Given the description of an element on the screen output the (x, y) to click on. 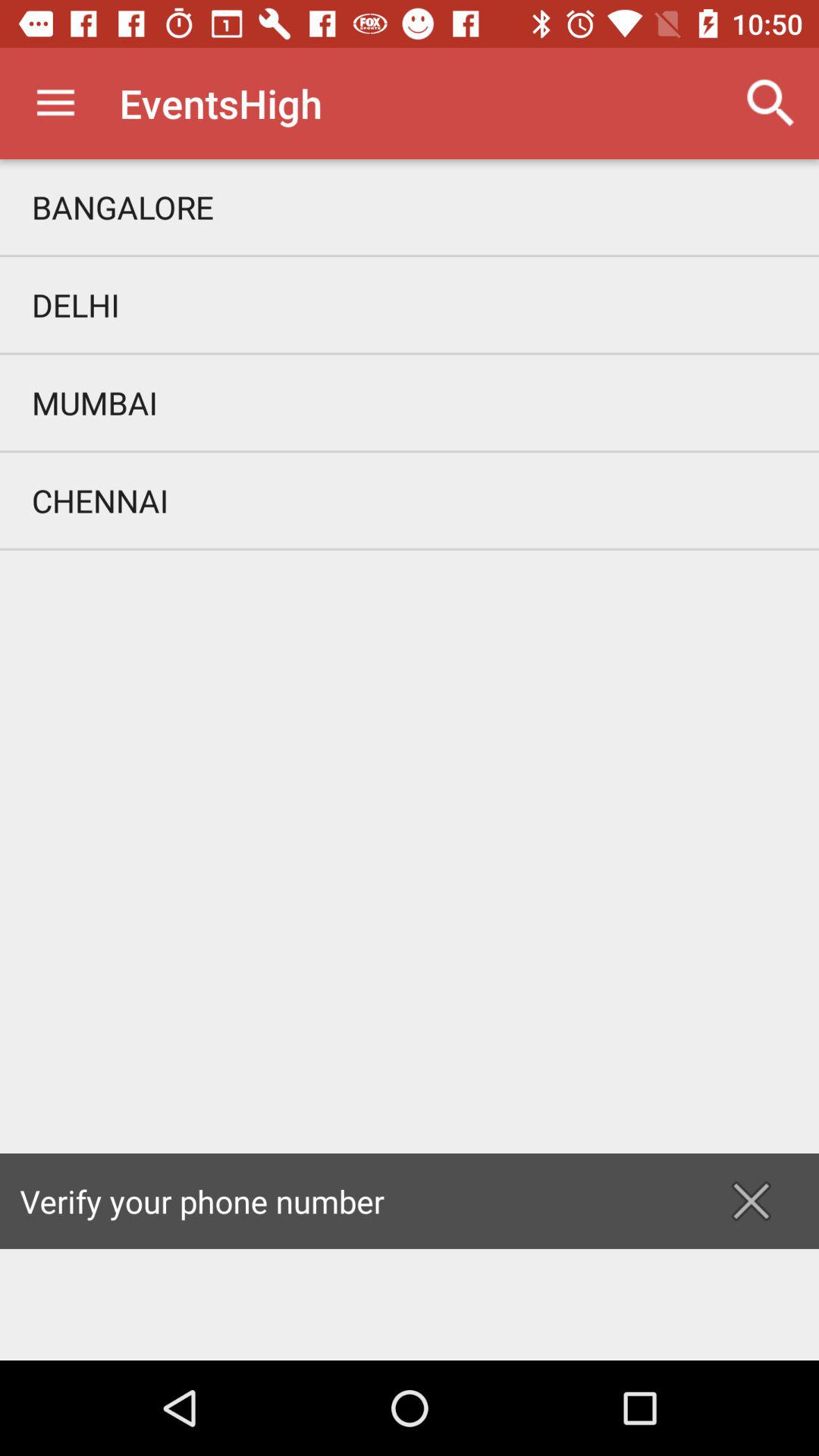
press the icon above the chennai item (409, 402)
